Given the description of an element on the screen output the (x, y) to click on. 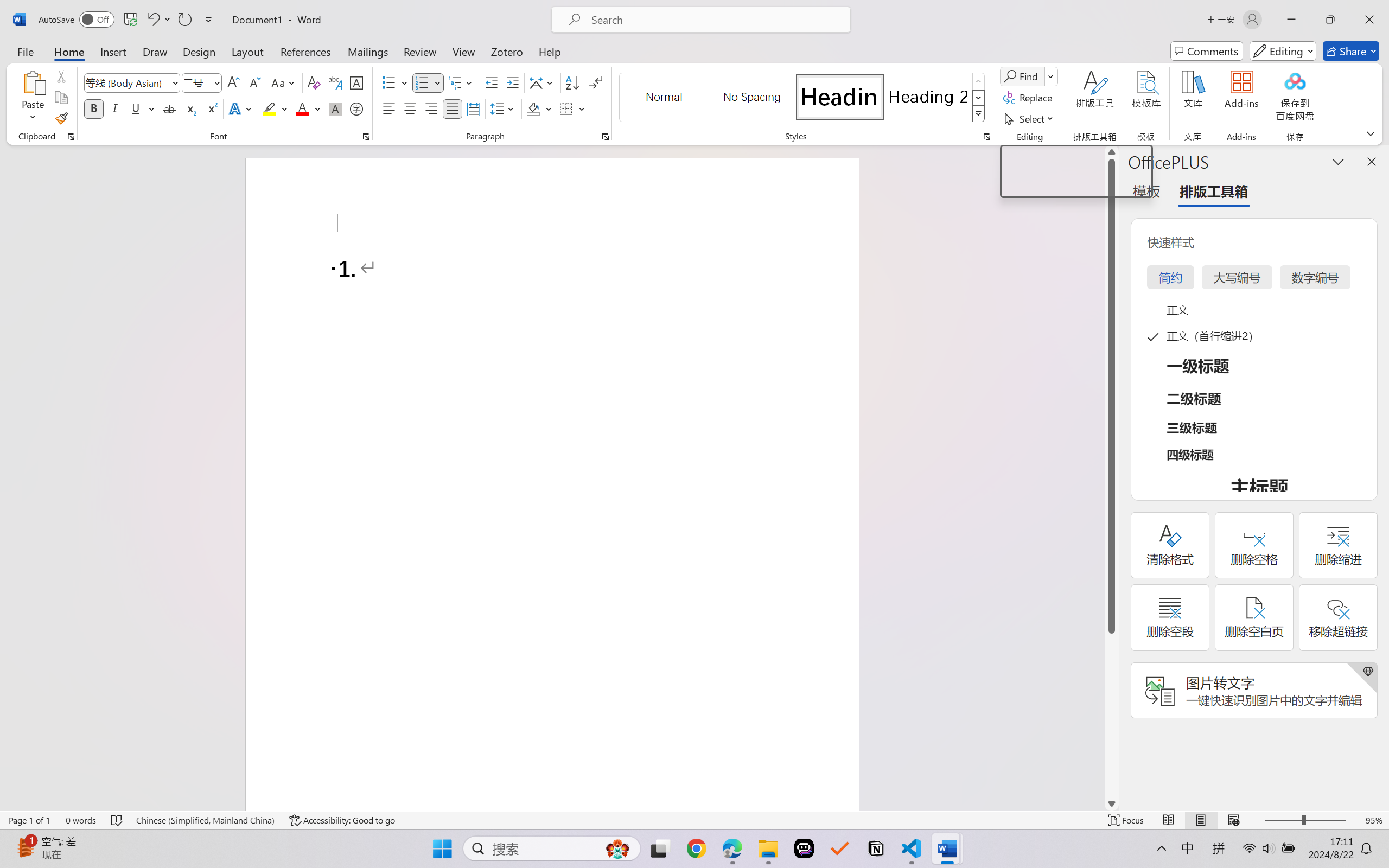
Page down (1111, 714)
Page 1 content (552, 521)
Language Chinese (Simplified, Mainland China) (205, 819)
